Given the description of an element on the screen output the (x, y) to click on. 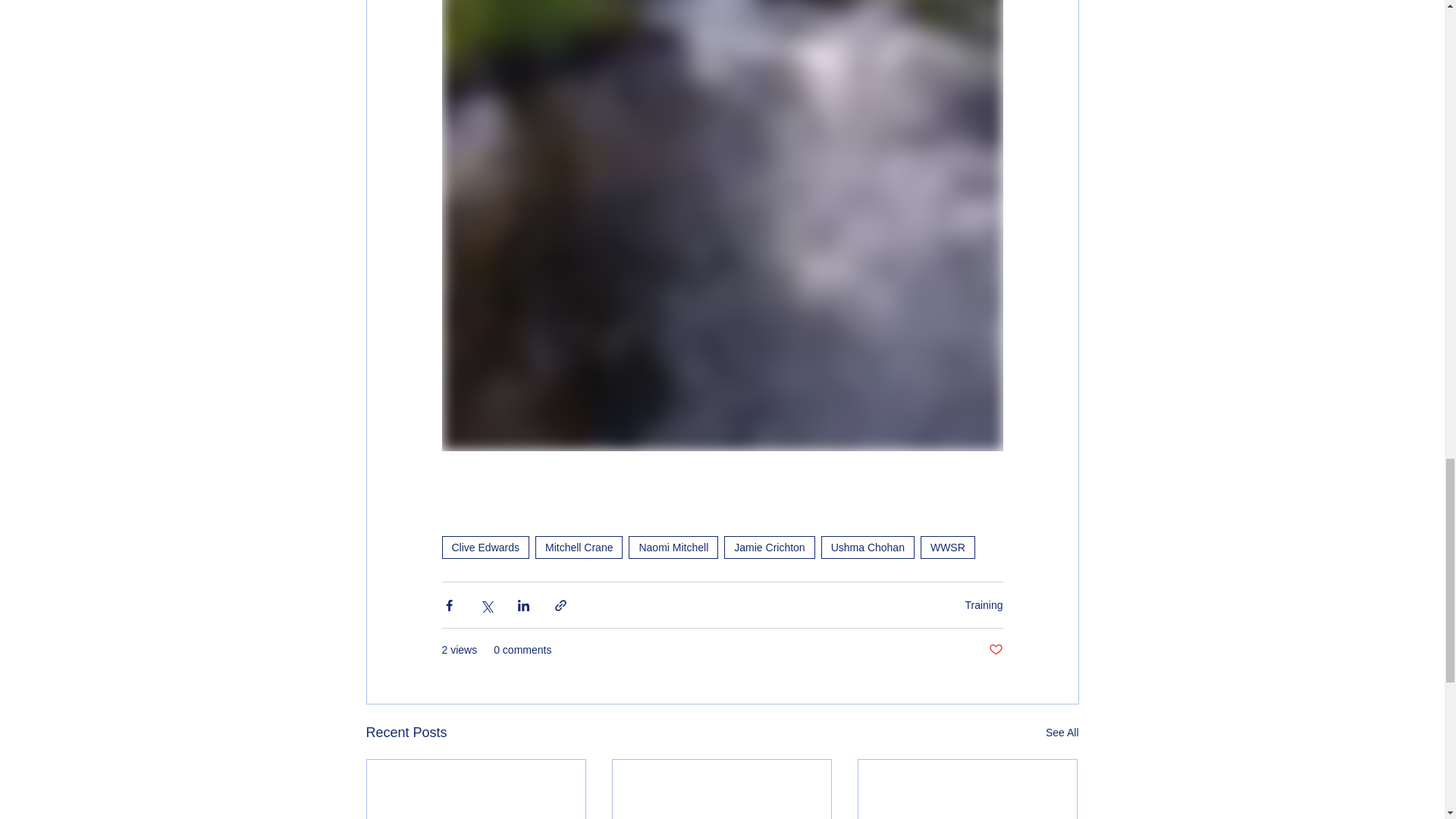
Clive Edwards (484, 547)
Naomi Mitchell (672, 547)
Mitchell Crane (579, 547)
Jamie Crichton (768, 547)
WWSR (947, 547)
Ushma Chohan (867, 547)
